Given the description of an element on the screen output the (x, y) to click on. 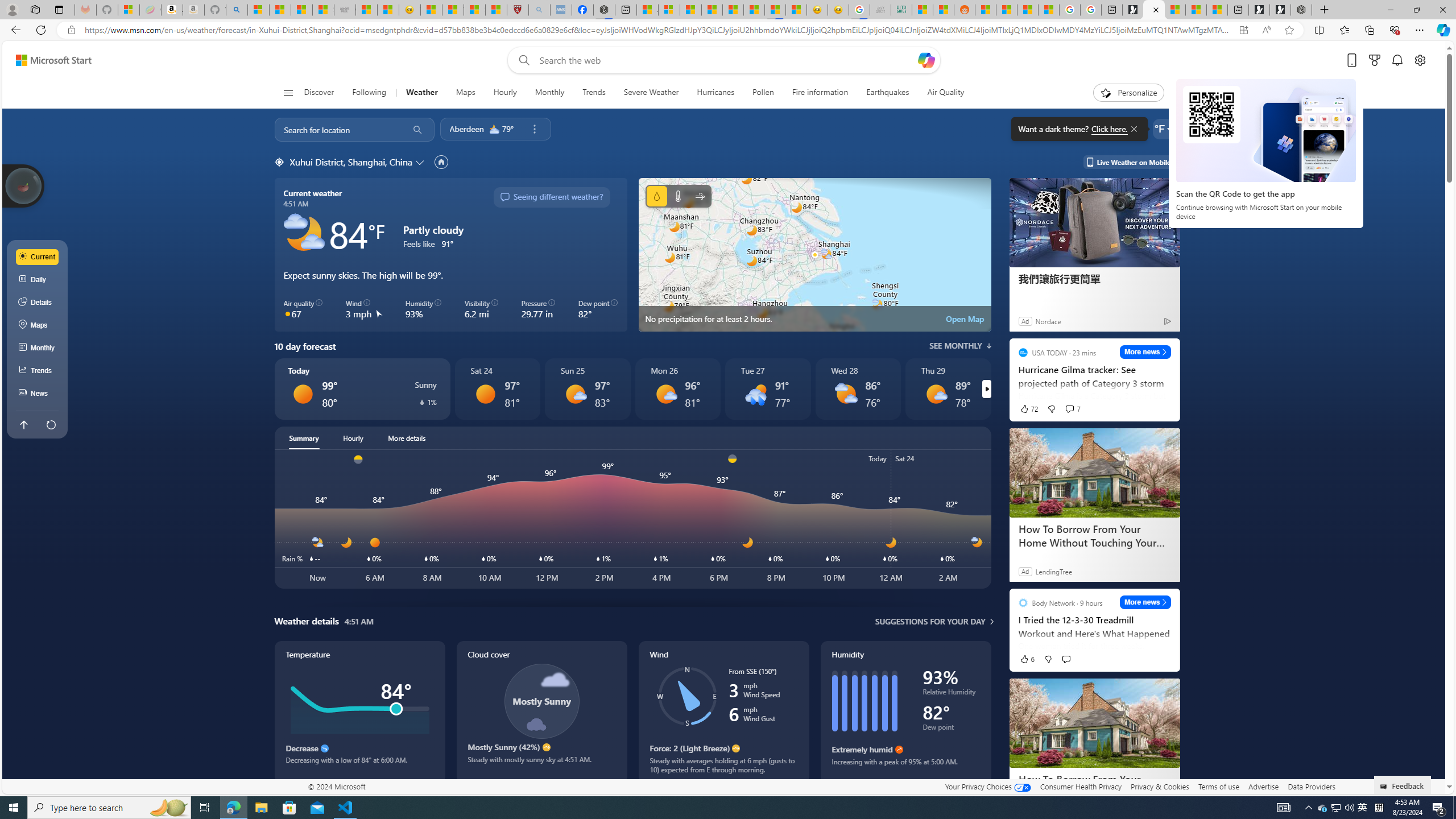
Details (37, 302)
Data Providers (1311, 785)
Decrease (324, 748)
Open Map (965, 318)
Wind (723, 711)
Wind (699, 195)
Partly cloudy (303, 232)
